Given the description of an element on the screen output the (x, y) to click on. 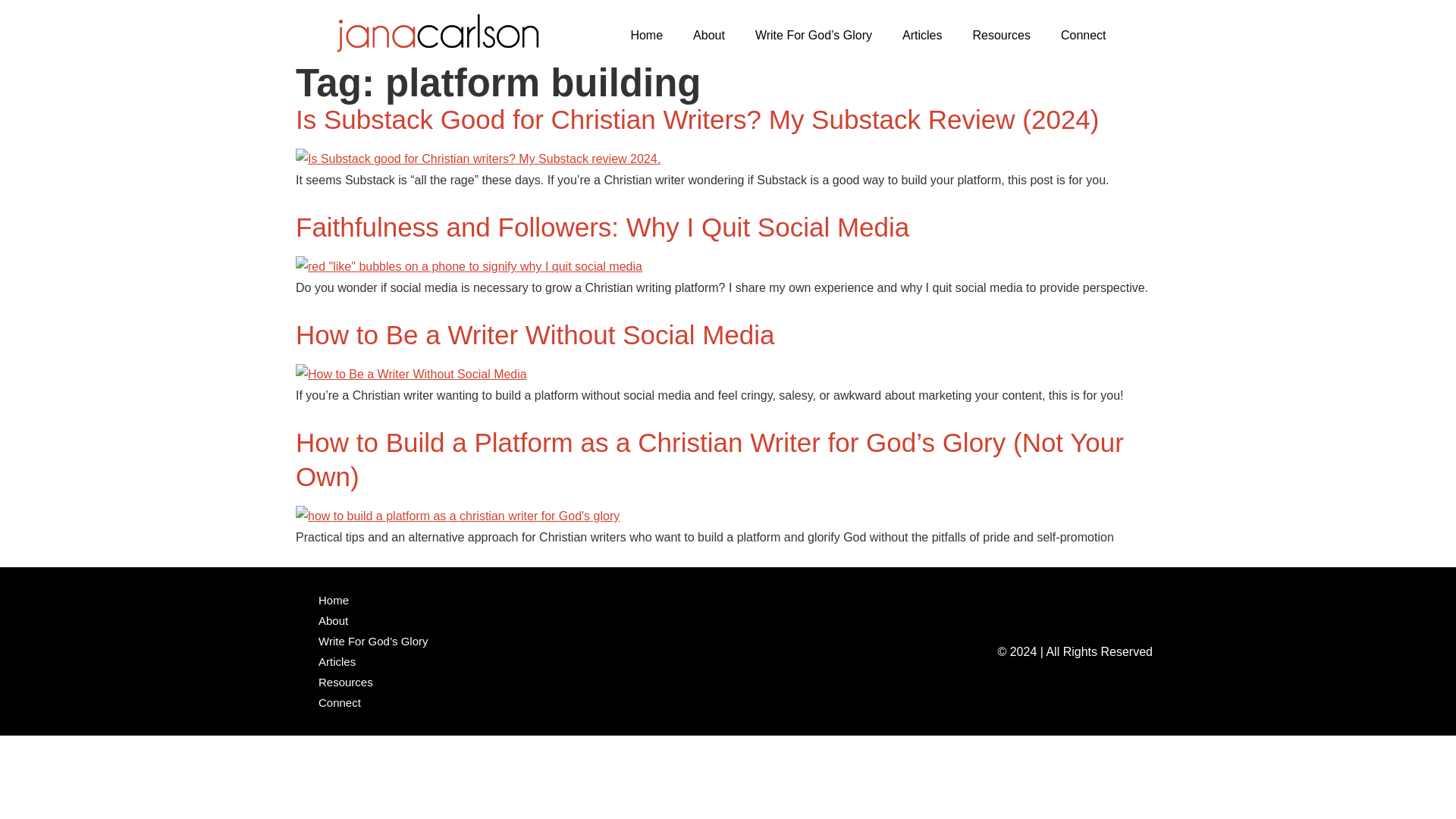
Resources (1000, 35)
About (708, 35)
Home (646, 35)
Articles (921, 35)
Connect (1083, 35)
